Given the description of an element on the screen output the (x, y) to click on. 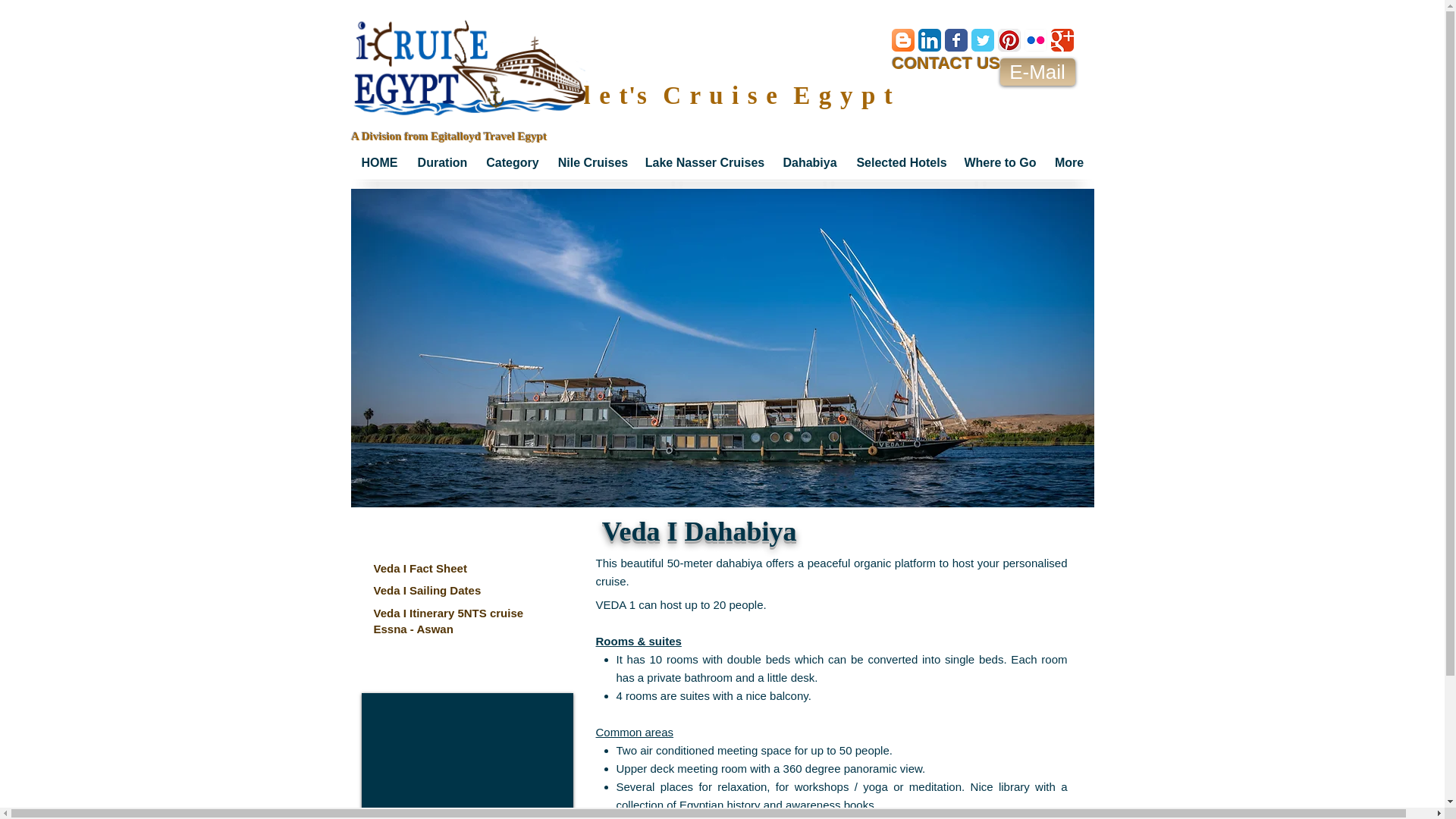
Category (512, 162)
HOME (378, 162)
Lake Nasser Cruises (704, 162)
A Division from Egitalloyd Travel Egypt (449, 136)
Dahabiya (809, 162)
External Facebook (466, 755)
Untitled-2.gif (470, 71)
Duration (441, 162)
E-Mail (1036, 71)
CONTACT US (945, 63)
Twitter Follow (951, 81)
Nile Cruises (592, 162)
